Given the description of an element on the screen output the (x, y) to click on. 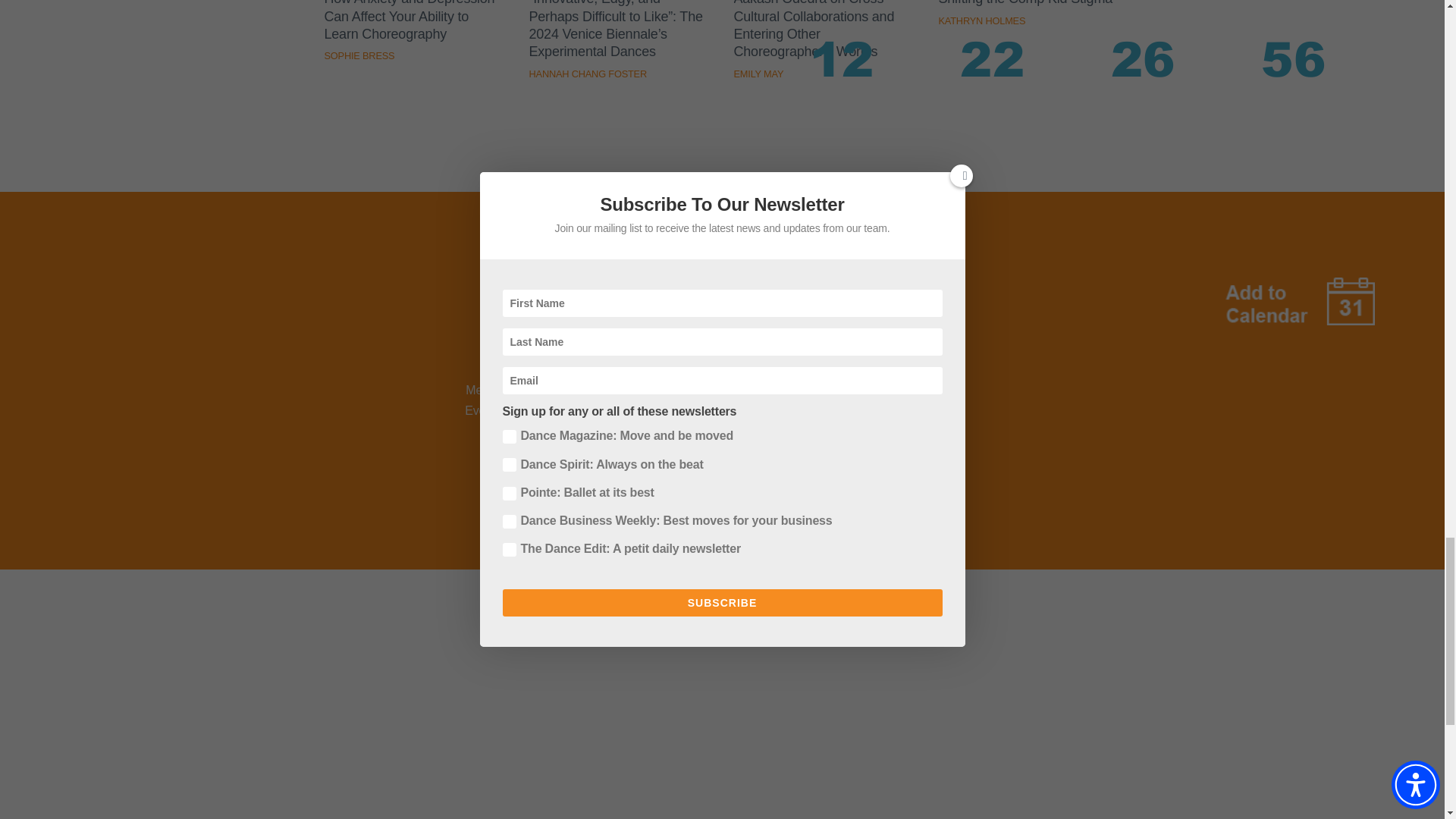
Follow on Facebook (623, 337)
Follow on Twitter (662, 337)
Follow on Instagram (702, 337)
